Given the description of an element on the screen output the (x, y) to click on. 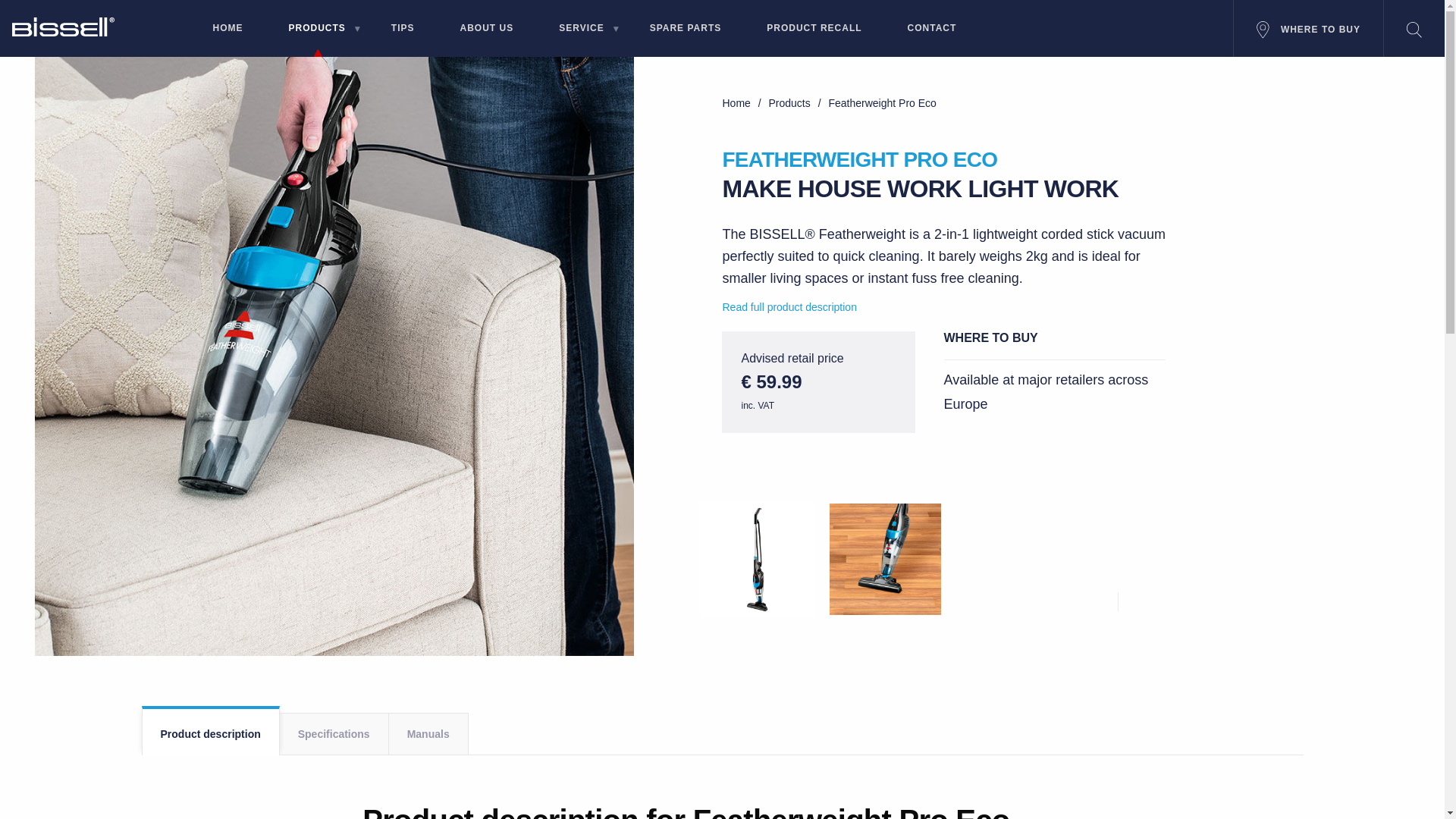
SERVICE (580, 31)
TIPS (403, 31)
Home (737, 102)
Products (790, 102)
PRODUCTS (316, 31)
ABOUT US (487, 31)
Featherweight Pro Eco (882, 102)
Read full product description (789, 307)
HOME (226, 31)
